Given the description of an element on the screen output the (x, y) to click on. 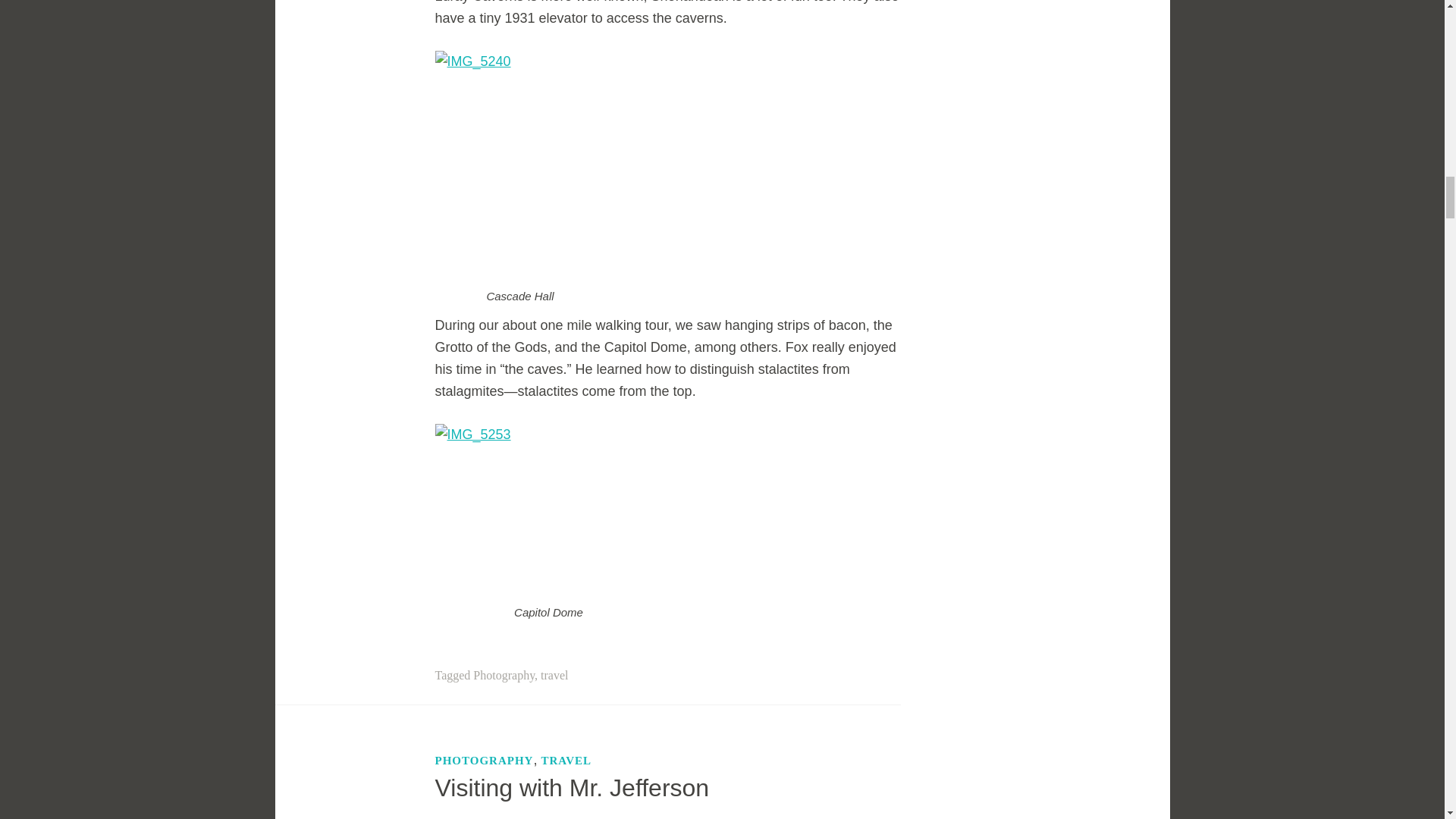
Photography (503, 675)
PHOTOGRAPHY (484, 760)
TRAVEL (565, 760)
travel (553, 675)
